Given the description of an element on the screen output the (x, y) to click on. 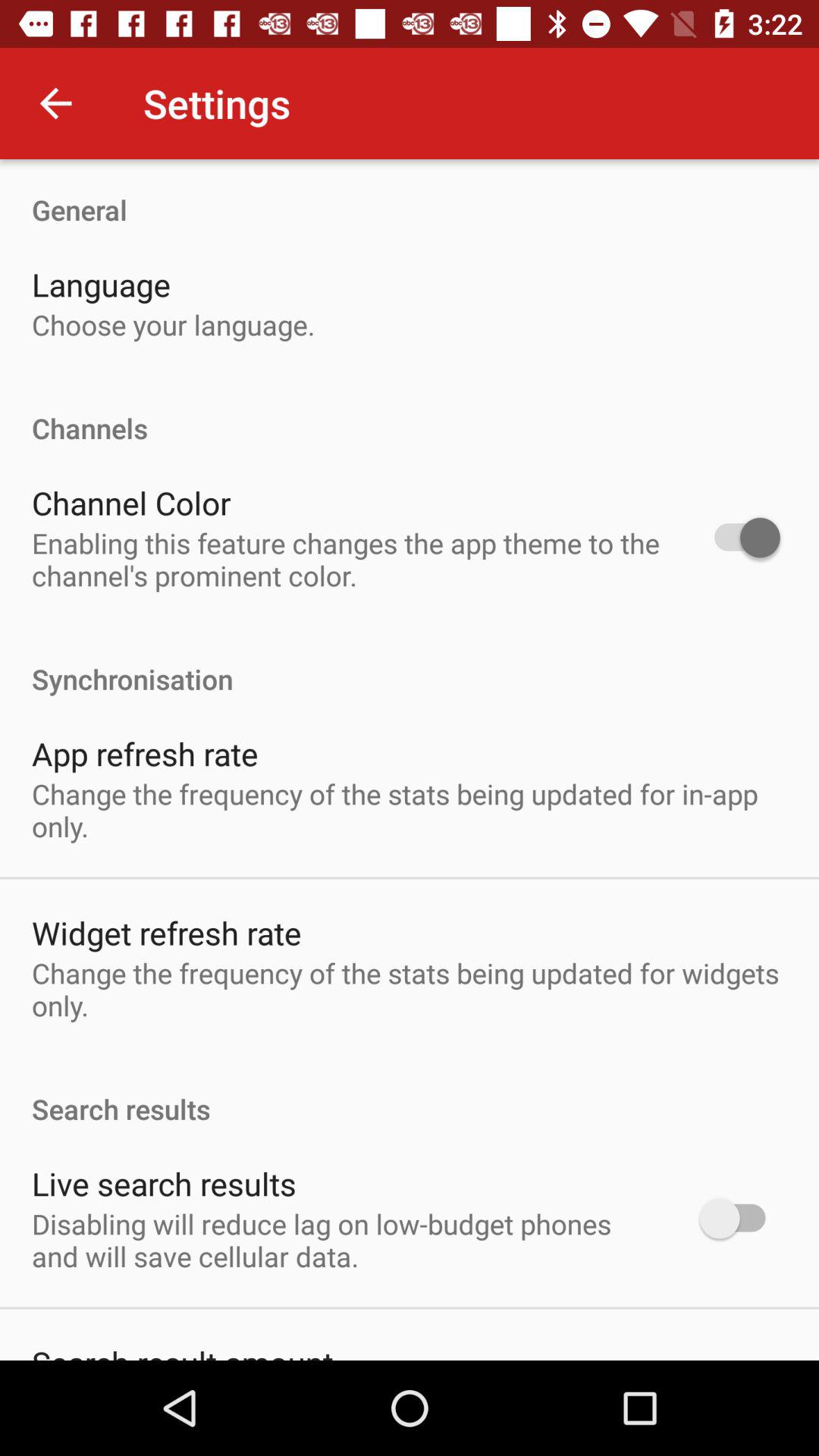
flip until general icon (409, 193)
